Given the description of an element on the screen output the (x, y) to click on. 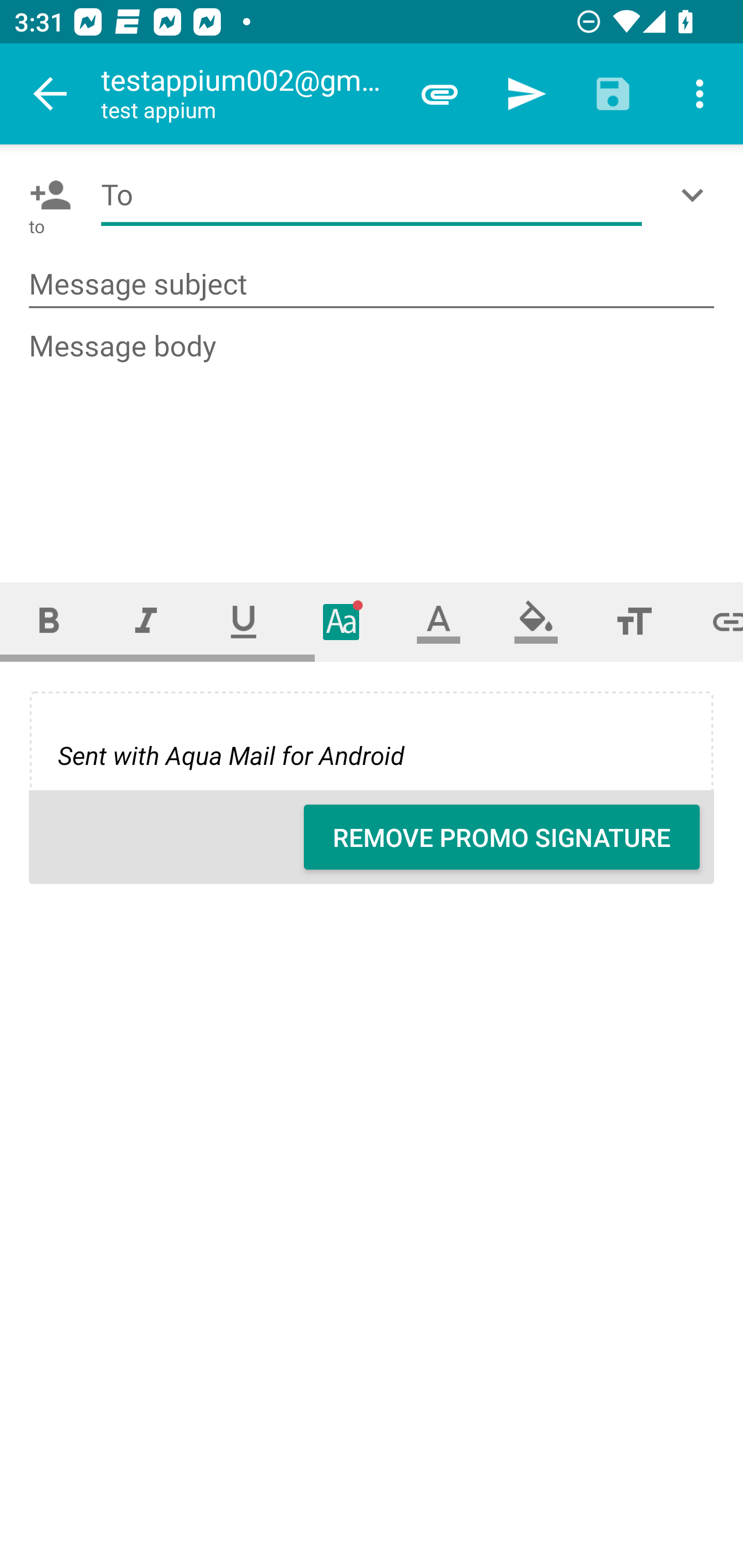
Navigate up (50, 93)
testappium002@gmail.com test appium (248, 93)
Attach (439, 93)
Send (525, 93)
Save (612, 93)
More options (699, 93)
Pick contact: To (46, 195)
Show/Add CC/BCC (696, 195)
To (371, 195)
Message subject (371, 284)
Bold (48, 621)
Italic (145, 621)
Underline (243, 621)
Typeface (font) (341, 621)
Text color (438, 621)
Fill color (536, 621)
Font size (633, 621)
Set link (712, 621)
REMOVE PROMO SIGNATURE (501, 837)
